Given the description of an element on the screen output the (x, y) to click on. 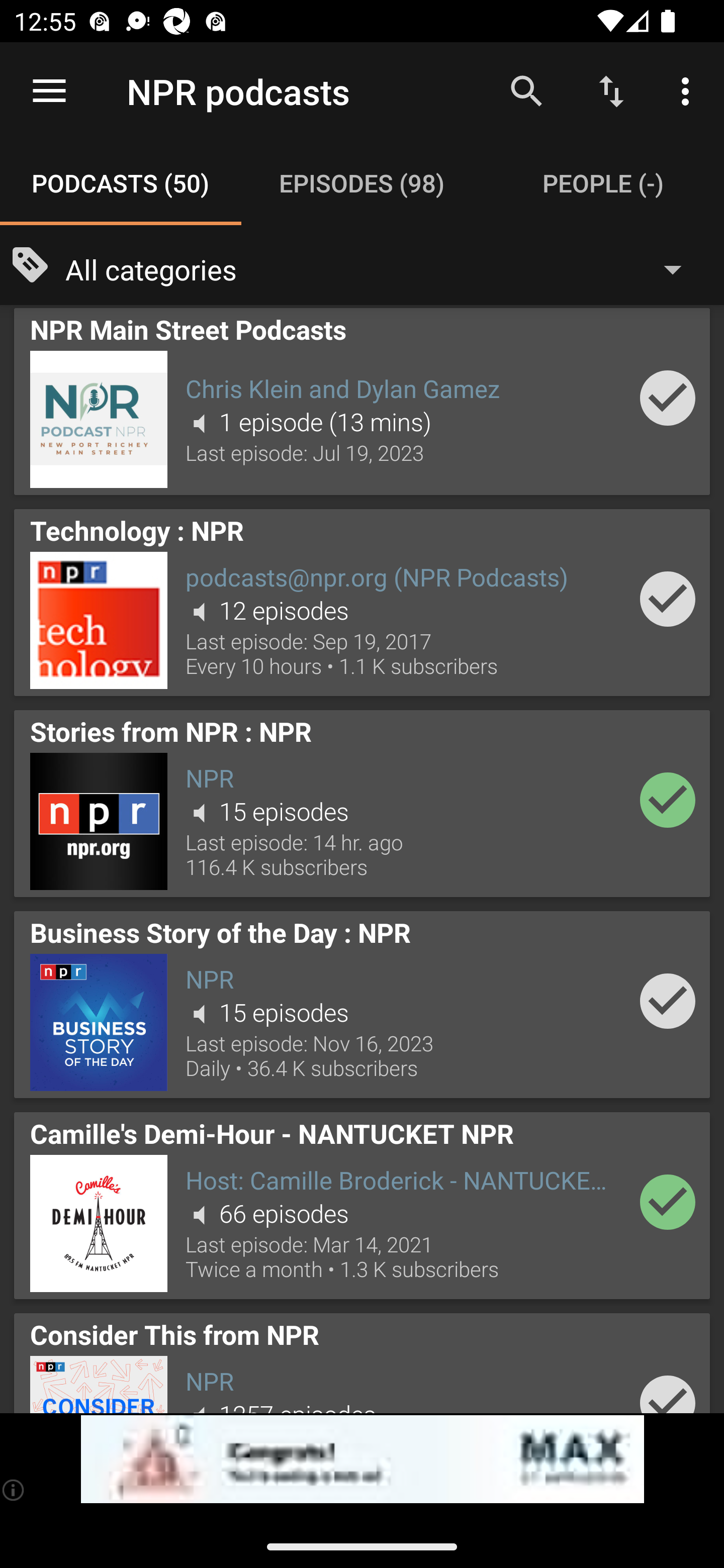
Open navigation sidebar (49, 91)
Search (526, 90)
Sort (611, 90)
More options (688, 90)
Episodes (98) EPISODES (98) (361, 183)
People (-) PEOPLE (-) (603, 183)
All categories (383, 268)
Add (667, 397)
Add (667, 598)
Add (667, 799)
Add (667, 1000)
Add (667, 1202)
Consider This from NPR NPR 1257 episodes Add (362, 1359)
Add (667, 1386)
app-monetization (362, 1459)
(i) (14, 1489)
